Given the description of an element on the screen output the (x, y) to click on. 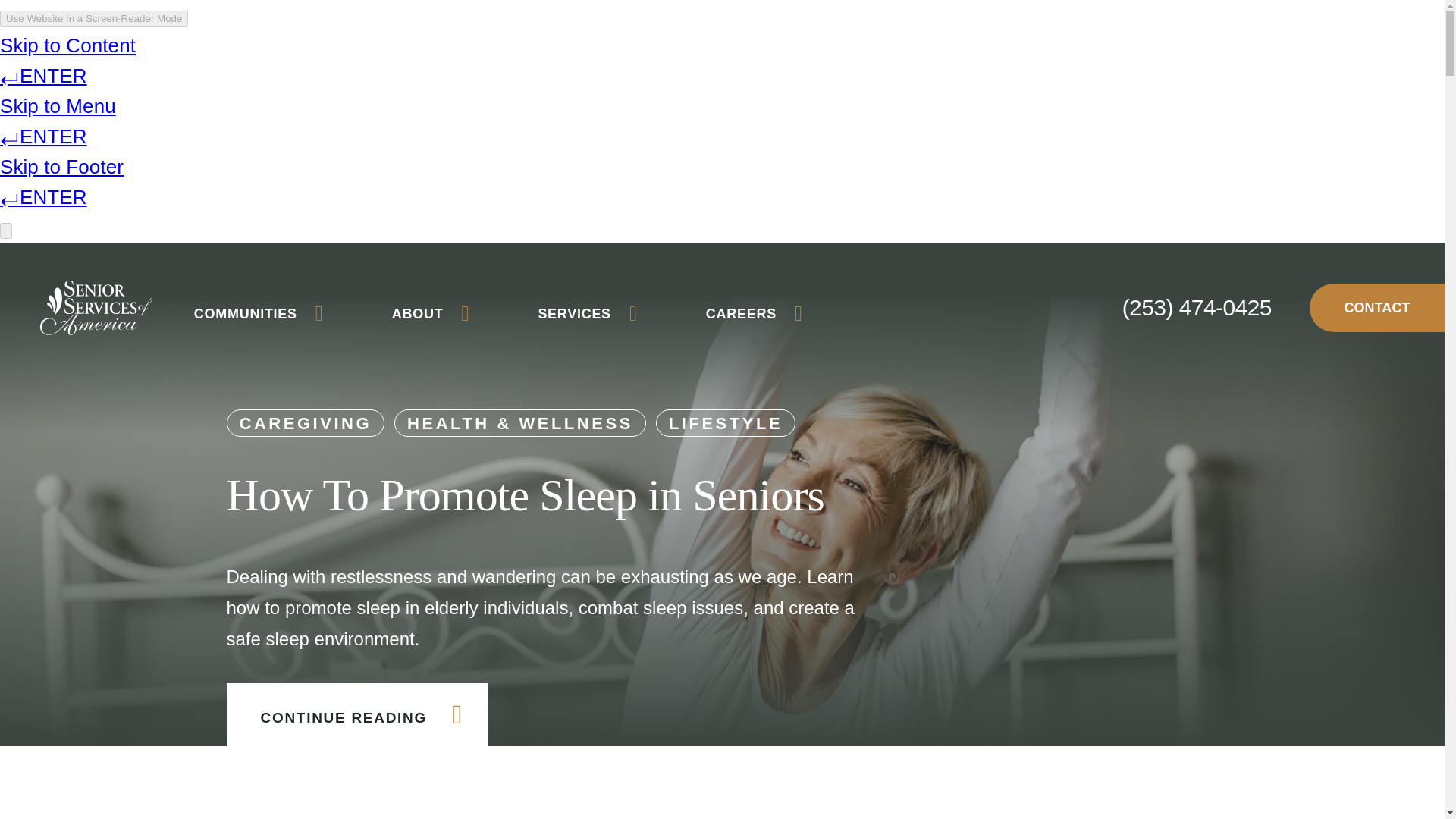
CONTINUE READING (355, 714)
Send (748, 756)
COMMUNITIES (258, 314)
CAREERS (754, 314)
ABOUT (430, 314)
SERVICES (587, 314)
